Given the description of an element on the screen output the (x, y) to click on. 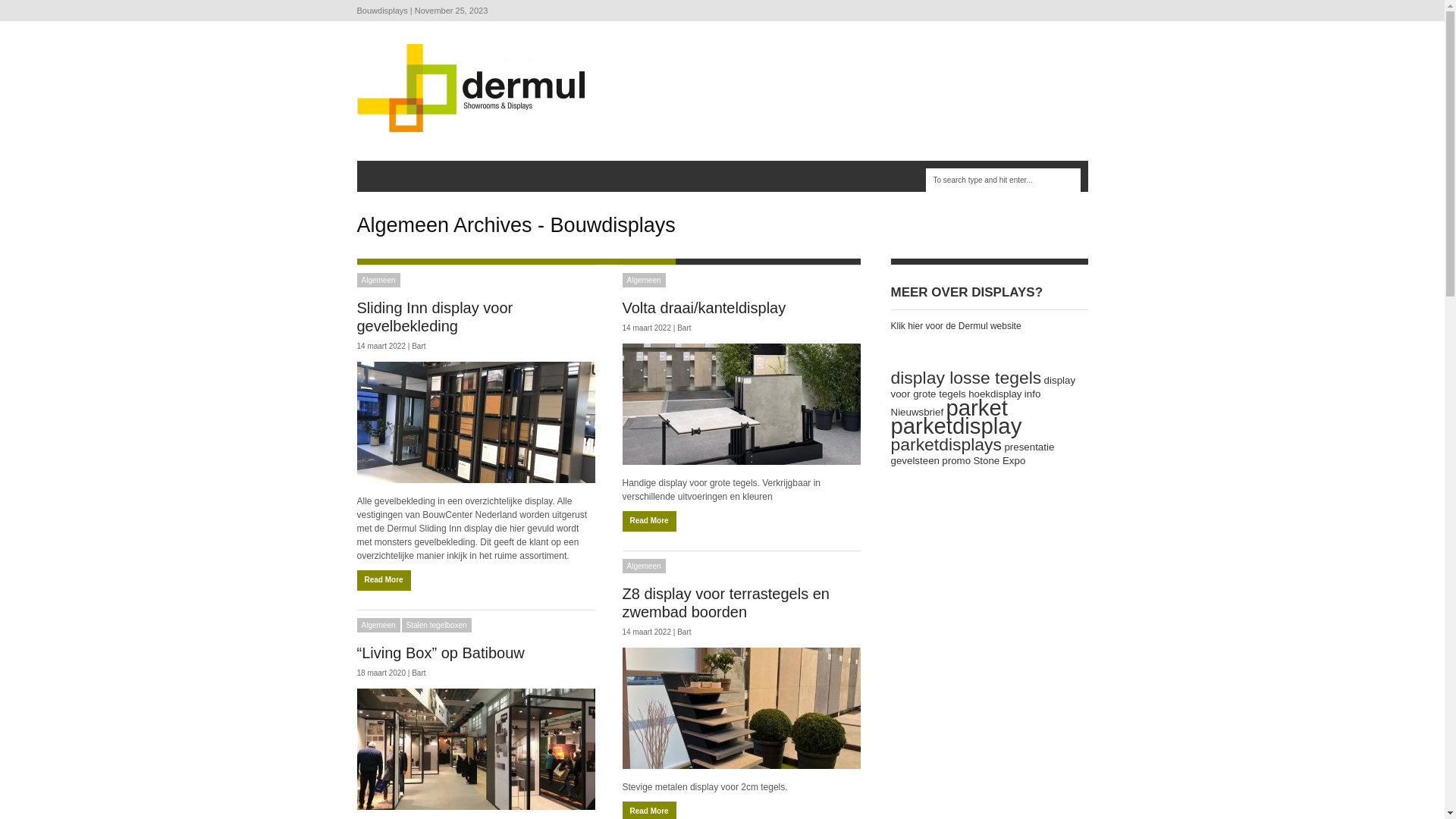
display losse tegels Element type: text (965, 377)
Volta draai/kanteldisplay Element type: text (703, 307)
Algemeen Element type: text (377, 625)
promo Element type: text (955, 460)
Read More Element type: text (383, 580)
Algemeen Element type: text (377, 280)
Bart Element type: text (418, 346)
Bart Element type: text (418, 672)
Bart Element type: text (683, 631)
parketdisplay Element type: text (955, 425)
hoekdisplay Element type: text (994, 393)
Algemeen Element type: text (643, 280)
Z8 display voor terrastegels en zwembad boorden Element type: text (724, 602)
Algemeen Element type: text (643, 565)
Read More Element type: text (648, 521)
Stalen tegelboxen Element type: text (436, 625)
Klik hier voor de Dermul website Element type: text (955, 325)
Permanent Link to Volta draai/kanteldisplay Element type: hover (740, 403)
info Element type: text (1032, 393)
Bart Element type: text (683, 327)
parketdisplays Element type: text (945, 444)
display voor grote tegels Element type: text (982, 386)
presentatie gevelsteen Element type: text (972, 453)
Stone Expo Element type: text (998, 460)
Permanent Link to Sliding Inn display voor gevelbekleding Element type: hover (475, 422)
parket Element type: text (976, 407)
Nieuwsbrief Element type: text (916, 411)
Sliding Inn display voor gevelbekleding Element type: text (434, 316)
